Given the description of an element on the screen output the (x, y) to click on. 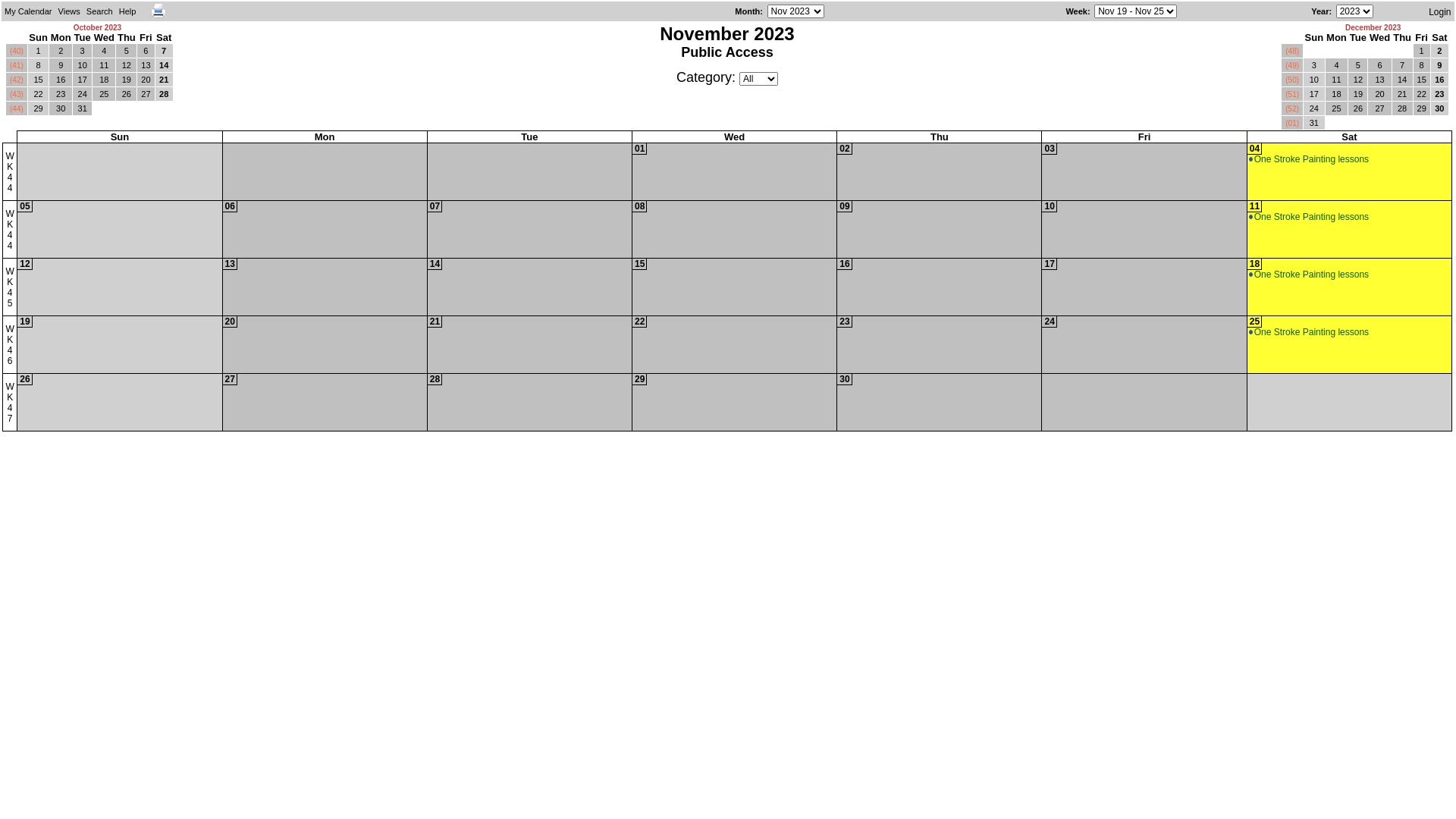
(48) Element type: text (1292, 49)
27 Element type: text (1379, 108)
31 Element type: text (1314, 122)
4 Element type: text (1336, 65)
8 Element type: text (38, 65)
(01) Element type: text (1292, 122)
1 Element type: text (1421, 50)
15 Element type: text (639, 263)
26 Element type: text (125, 93)
20 Element type: text (145, 79)
Month Element type: text (746, 10)
10 Element type: text (82, 65)
15 Element type: text (38, 79)
11 Element type: text (1336, 79)
(51) Element type: text (1292, 93)
(43) Element type: text (16, 93)
(52) Element type: text (1292, 107)
21 Element type: text (163, 79)
12 Element type: text (125, 65)
(50) Element type: text (1292, 78)
October 2023 Element type: text (97, 27)
27 Element type: text (145, 93)
25 Element type: text (103, 93)
23 Element type: text (1439, 93)
23 Element type: text (844, 321)
05 Element type: text (24, 206)
30 Element type: text (844, 379)
11 Element type: text (103, 65)
22 Element type: text (639, 321)
29 Element type: text (639, 379)
01 Element type: text (639, 148)
30 Element type: text (1439, 108)
Login Element type: text (1439, 11)
18 Element type: text (1254, 263)
28 Element type: text (434, 379)
10 Element type: text (1048, 206)
24 Element type: text (82, 93)
14 Element type: text (163, 65)
29 Element type: text (38, 108)
21 Element type: text (434, 321)
14 Element type: text (1402, 79)
13 Element type: text (229, 263)
27 Element type: text (229, 379)
22 Element type: text (38, 93)
7 Element type: text (1402, 65)
13 Element type: text (1379, 79)
One Stroke Painting lessons Element type: text (1309, 274)
21 Element type: text (1402, 93)
12 Element type: text (24, 263)
5 Element type: text (1357, 65)
(44) Element type: text (16, 107)
5 Element type: text (125, 50)
(40) Element type: text (16, 49)
December 2023 Element type: text (1372, 27)
7 Element type: text (163, 50)
17 Element type: text (1048, 263)
06 Element type: text (229, 206)
08 Element type: text (639, 206)
13 Element type: text (145, 65)
W
K
4
4 Element type: text (9, 228)
9 Element type: text (60, 65)
10 Element type: text (1314, 79)
17 Element type: text (82, 79)
Search Element type: text (189, 31)
14 Element type: text (434, 263)
03 Element type: text (1048, 148)
19 Element type: text (125, 79)
16 Element type: text (1439, 79)
Week Element type: text (1076, 10)
28 Element type: text (163, 93)
One Stroke Painting lessons Element type: text (1309, 158)
22 Element type: text (1421, 93)
23 Element type: text (60, 93)
30 Element type: text (60, 108)
3 Element type: text (82, 50)
8 Element type: text (1421, 65)
15 Element type: text (1421, 79)
2 Element type: text (60, 50)
16 Element type: text (60, 79)
24 Element type: text (1314, 108)
3 Element type: text (1314, 65)
12 Element type: text (1357, 79)
(42) Element type: text (16, 78)
07 Element type: text (434, 206)
25 Element type: text (1254, 321)
25 Element type: text (1336, 108)
02 Element type: text (844, 148)
19 Element type: text (1357, 93)
Year Element type: text (1319, 10)
20 Element type: text (1379, 93)
26 Element type: text (1357, 108)
11 Element type: text (1254, 206)
9 Element type: text (1439, 65)
(49) Element type: text (1292, 65)
28 Element type: text (1402, 108)
19 Element type: text (24, 321)
18 Element type: text (1336, 93)
One Stroke Painting lessons Element type: text (1309, 216)
09 Element type: text (844, 206)
20 Element type: text (229, 321)
31 Element type: text (82, 108)
18 Element type: text (103, 79)
2 Element type: text (1439, 50)
W
K
4
4 Element type: text (9, 171)
24 Element type: text (1048, 321)
W
K
4
7 Element type: text (9, 401)
1 Element type: text (38, 50)
17 Element type: text (1314, 93)
16 Element type: text (844, 263)
26 Element type: text (24, 379)
4 Element type: text (103, 50)
04 Element type: text (1254, 148)
29 Element type: text (1421, 108)
W
K
4
6 Element type: text (9, 344)
6 Element type: text (145, 50)
W
K
4
5 Element type: text (9, 286)
One Stroke Painting lessons Element type: text (1309, 331)
(41) Element type: text (16, 65)
6 Element type: text (1379, 65)
